Given the description of an element on the screen output the (x, y) to click on. 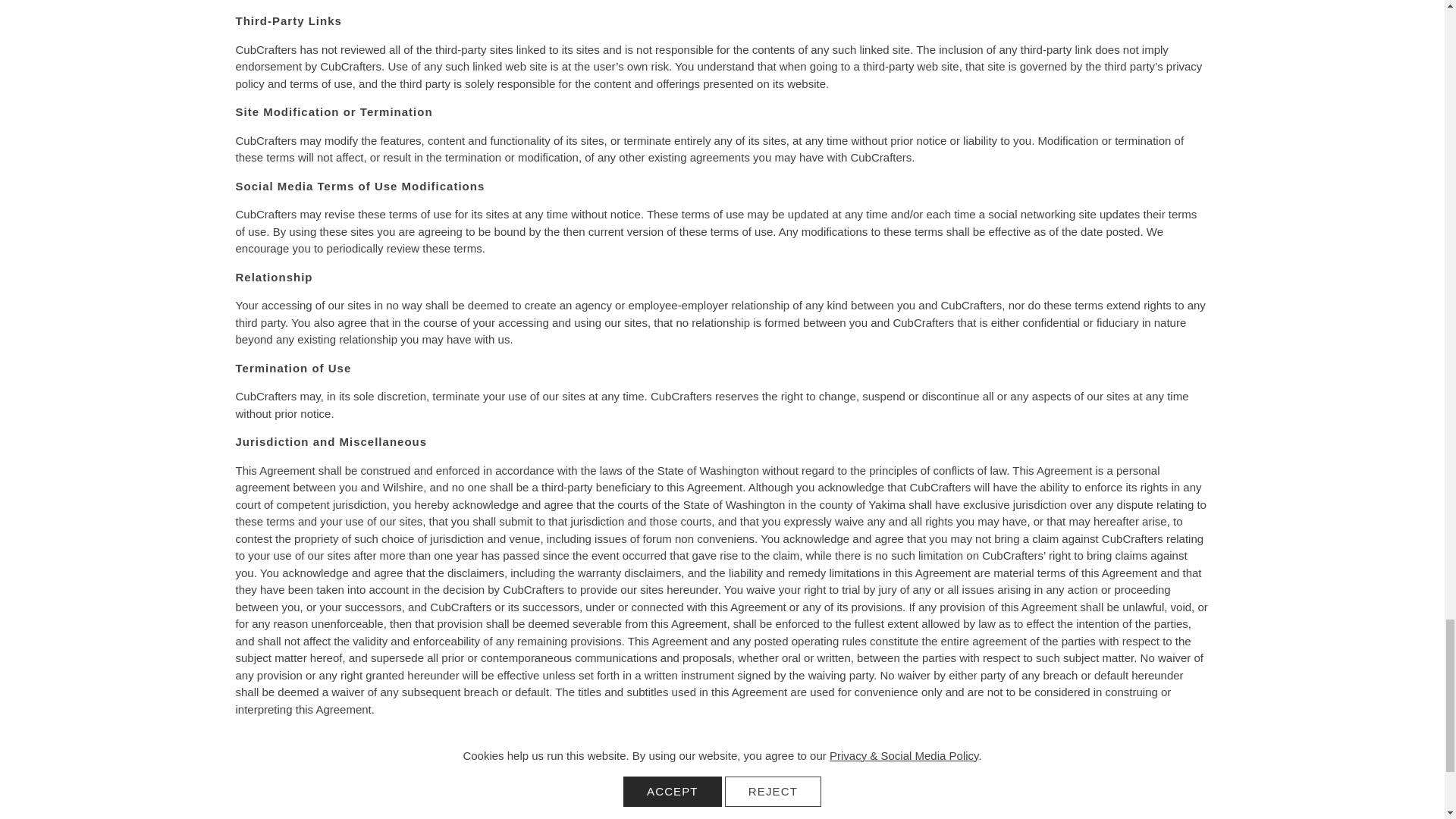
Carbon Cub UL (821, 810)
